Given the description of an element on the screen output the (x, y) to click on. 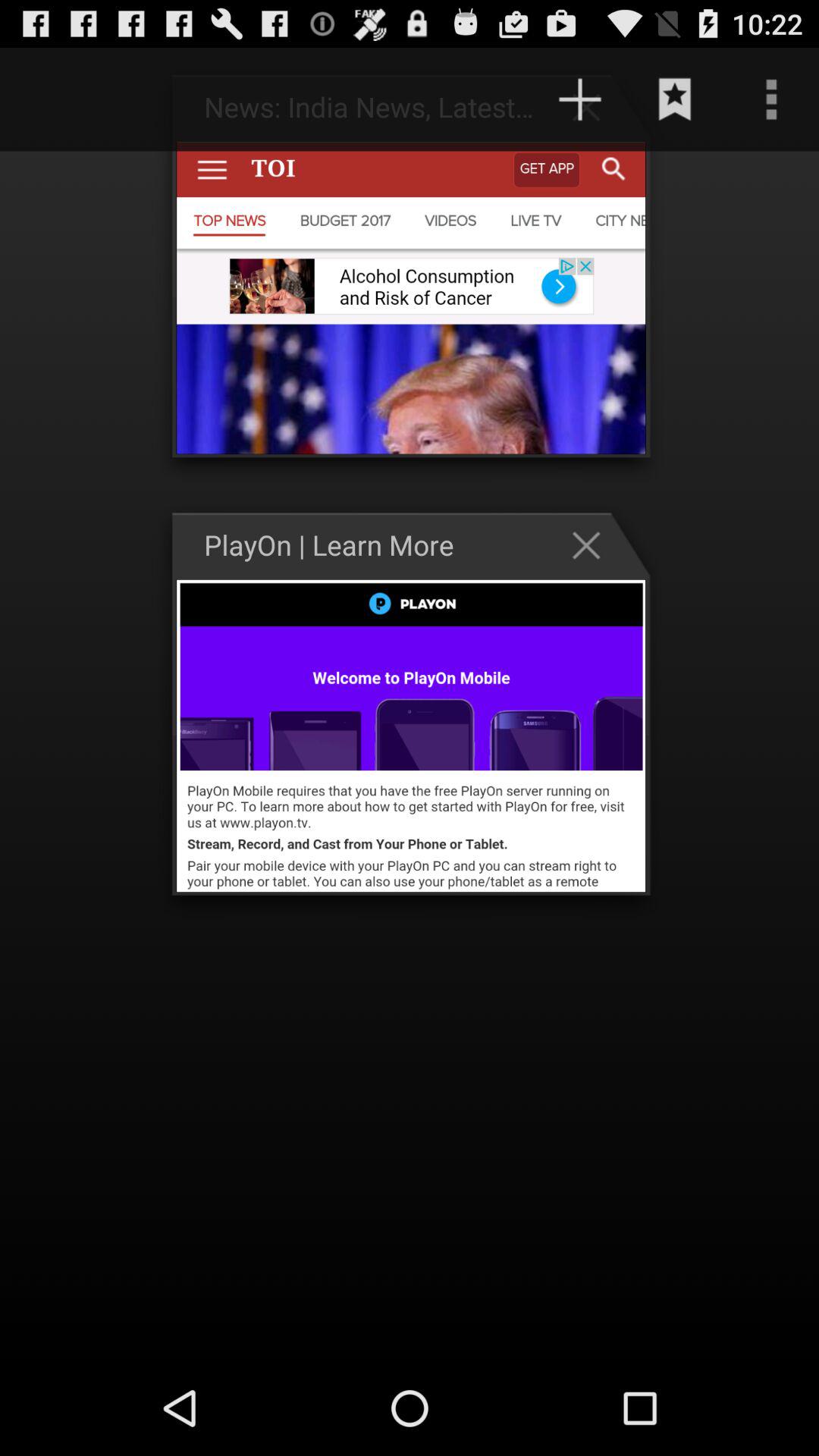
choose icon above the playon | learn more (453, 99)
